Given the description of an element on the screen output the (x, y) to click on. 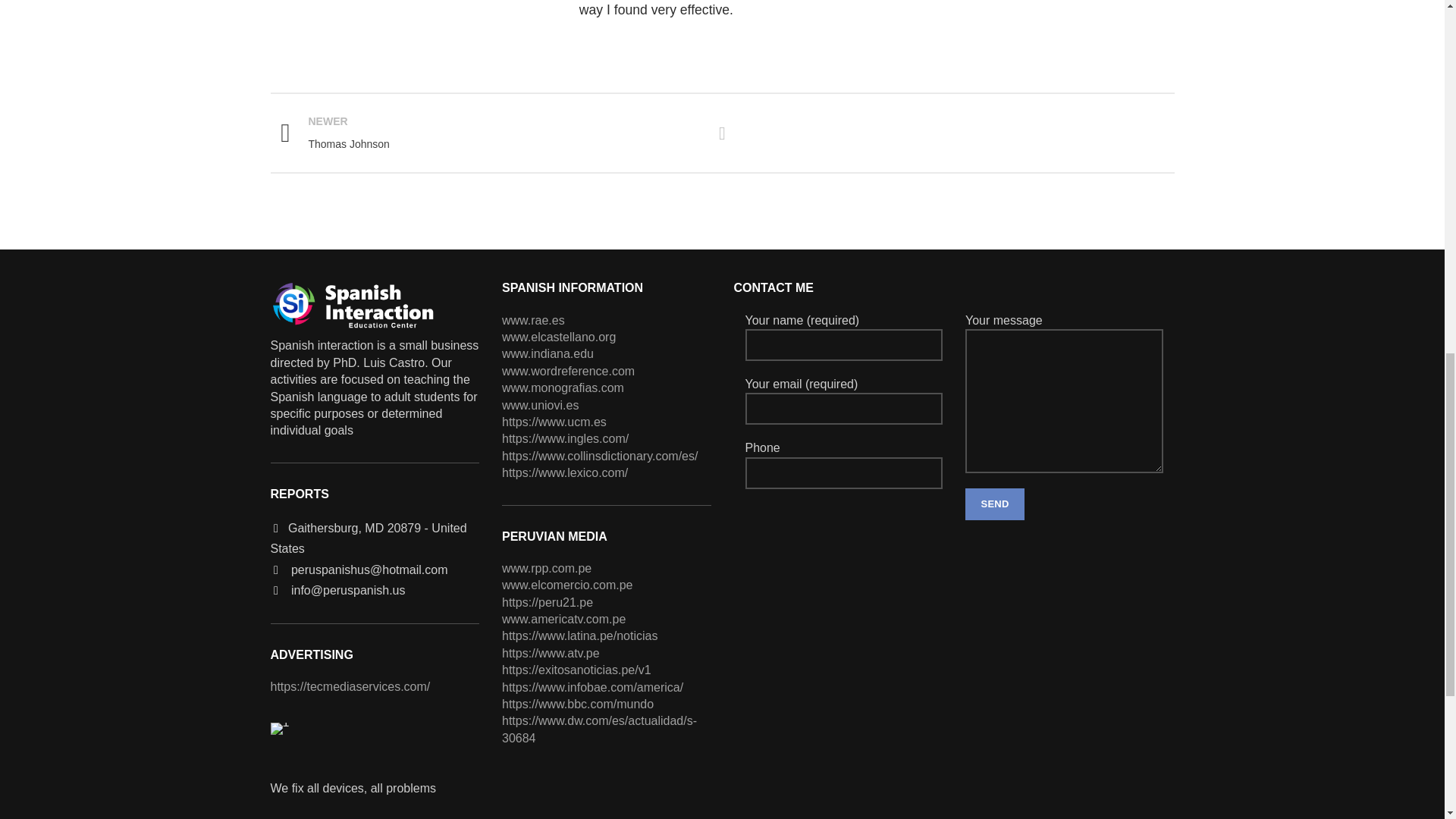
www.indiana.edu (548, 353)
www.rpp.com.pe (546, 567)
www.monografias.com (563, 387)
www.elcomercio.com.pe (567, 584)
www.uniovi.es (540, 404)
Back to list (722, 133)
www.rae.es (533, 319)
www.elcastellano.org (489, 133)
www.americatv.com.pe (558, 336)
